Given the description of an element on the screen output the (x, y) to click on. 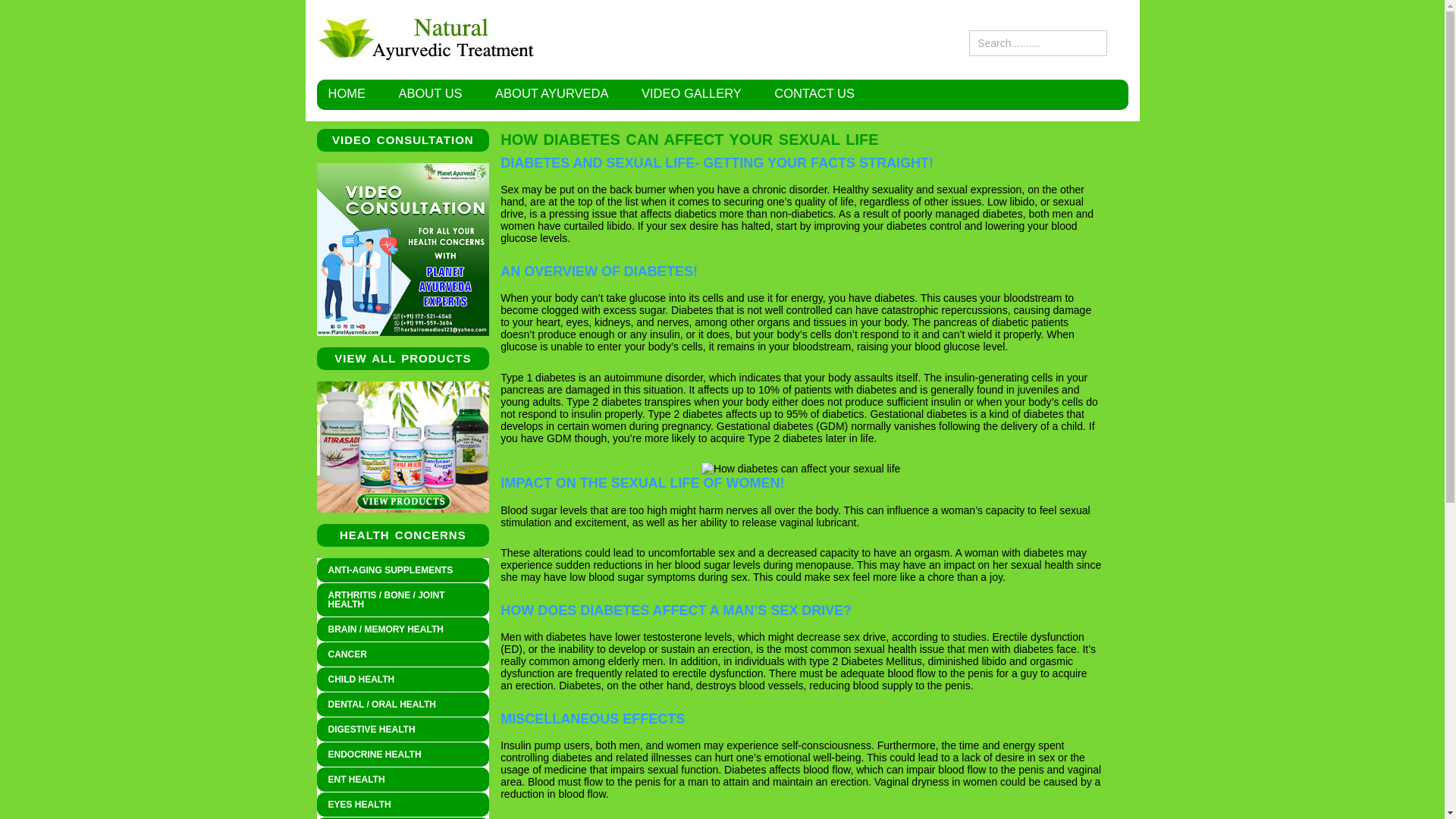
ANTI-AGING SUPPLEMENTS (403, 569)
View All Products (403, 447)
Online Video Consultation (403, 248)
CONTACT US (814, 92)
Search.......... (1037, 43)
VIDEO GALLERY (691, 92)
HOME (346, 92)
ABOUT AYURVEDA (551, 92)
CANCER (403, 654)
How diabetes can affect your sexual life (800, 468)
